Given the description of an element on the screen output the (x, y) to click on. 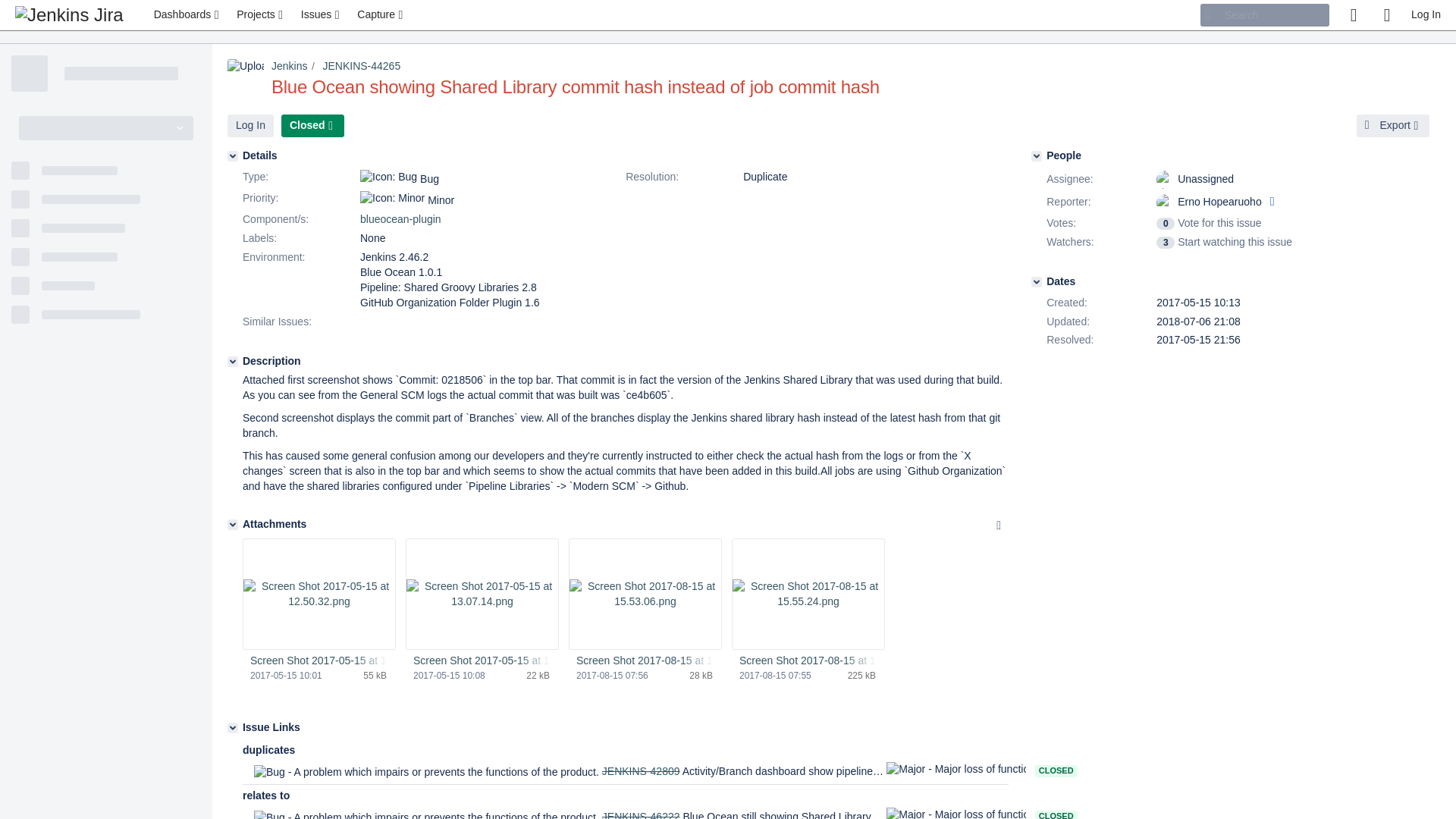
Resolution (682, 177)
Priority (299, 198)
Help (1386, 15)
Export this issue in another format (1392, 125)
Capture (381, 15)
Log In (250, 125)
Log In (250, 125)
Projects (261, 15)
Jenkins (288, 65)
Details (232, 155)
Screen Shot 2017-05-15 at 12.50.32.png (318, 661)
Issues (321, 15)
Help (1386, 15)
Closed (312, 125)
Options (998, 525)
